Given the description of an element on the screen output the (x, y) to click on. 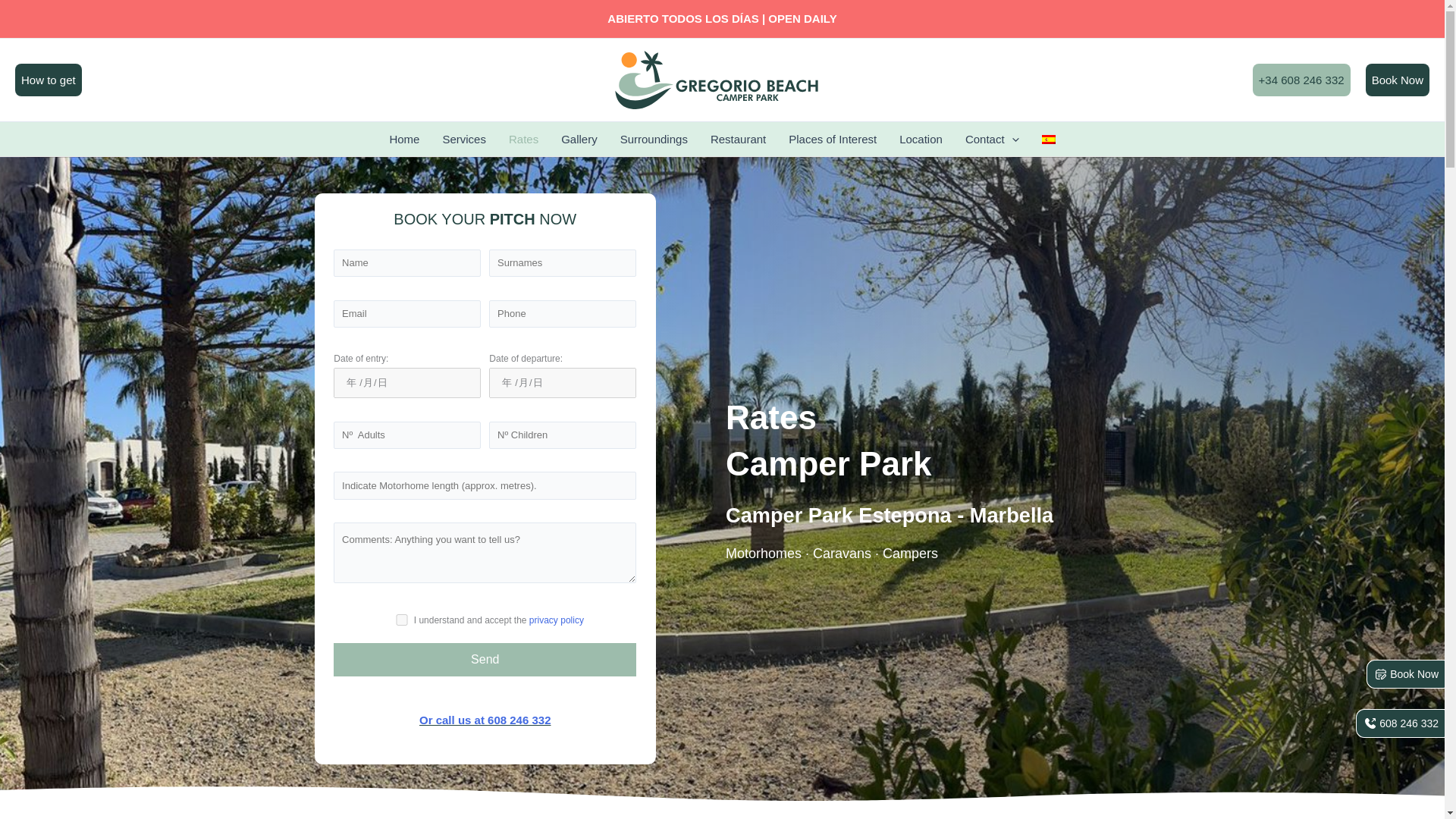
Restaurant (737, 139)
Book Now (1397, 80)
Contact (991, 139)
Location (920, 139)
Places of Interest (832, 139)
Gallery (579, 139)
How to get (47, 80)
Send (484, 659)
Surroundings (653, 139)
1 (402, 619)
